Given the description of an element on the screen output the (x, y) to click on. 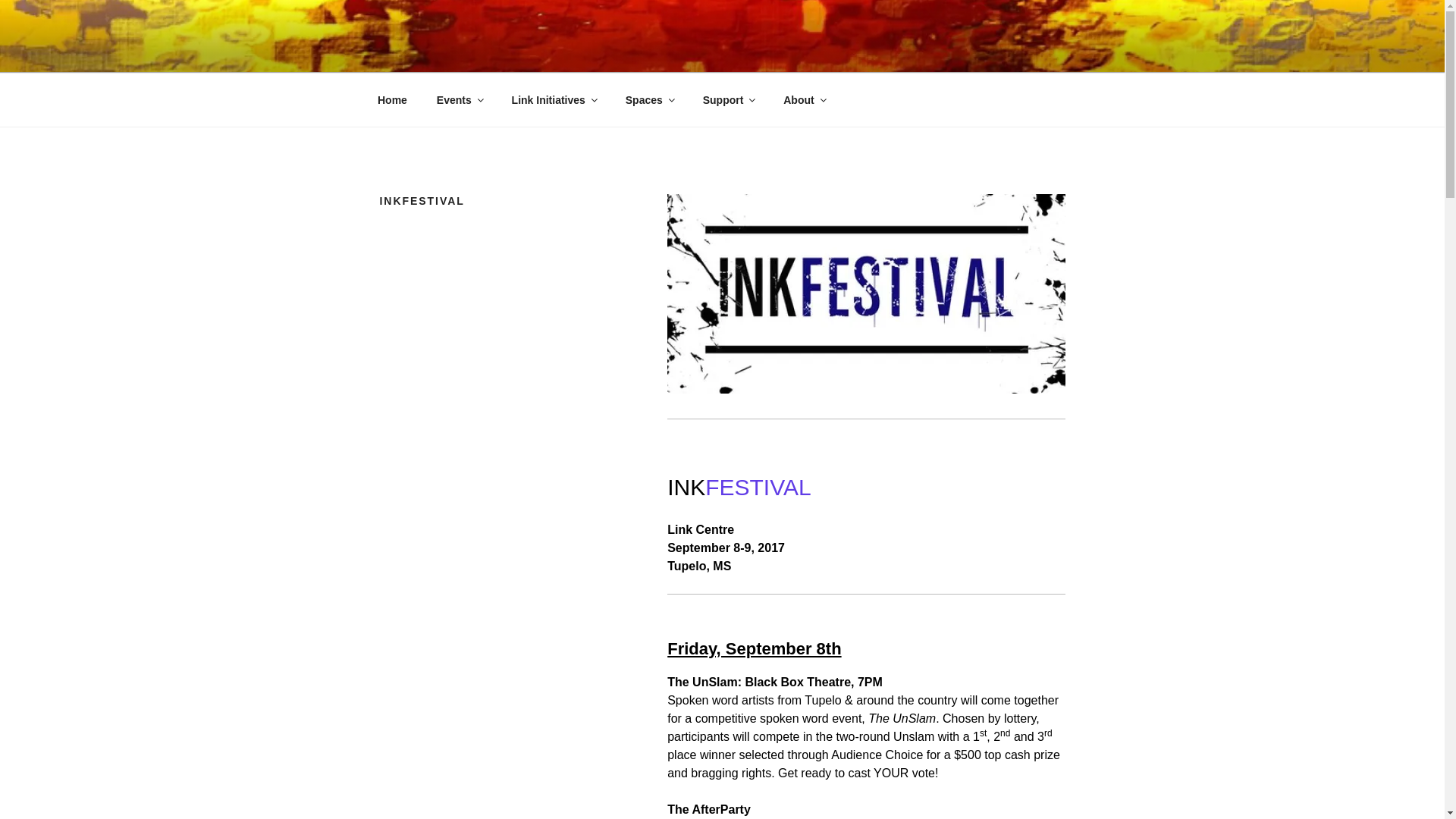
Support (727, 99)
Link Initiatives (552, 99)
Events (459, 99)
LINK CENTRE (482, 52)
Home (392, 99)
Spaces (648, 99)
